Given the description of an element on the screen output the (x, y) to click on. 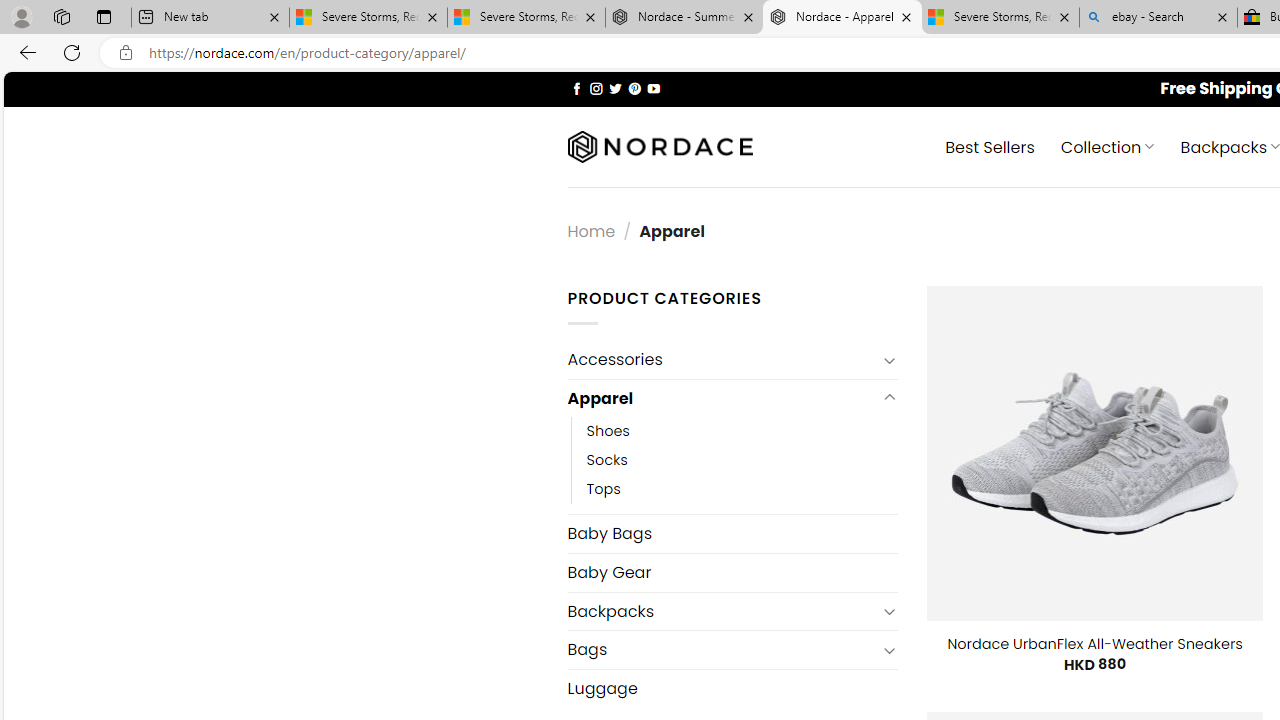
Apparel (721, 398)
  Best Sellers (989, 146)
Luggage (732, 687)
Tops (742, 489)
Baby Bags (732, 533)
